Given the description of an element on the screen output the (x, y) to click on. 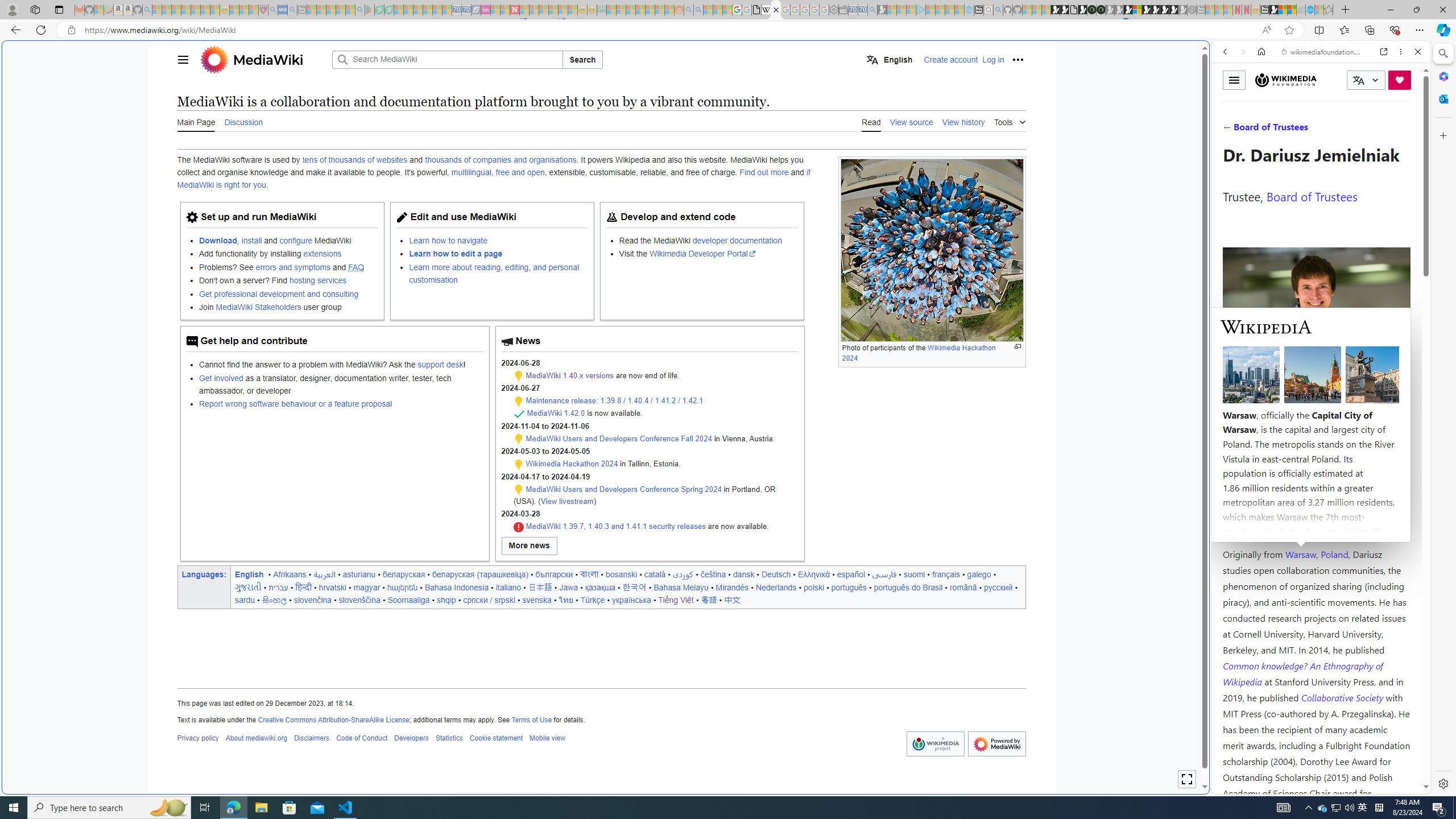
Robert H. Shmerling, MD - Harvard Health - Sleeping (263, 9)
Wikimedia Hackathon 2024 (571, 463)
Class: b_serphb (1404, 130)
multilingual (471, 172)
Disclaimers (311, 738)
Actions for this site (1370, 583)
wikimediafoundation.org (1323, 51)
